Given the description of an element on the screen output the (x, y) to click on. 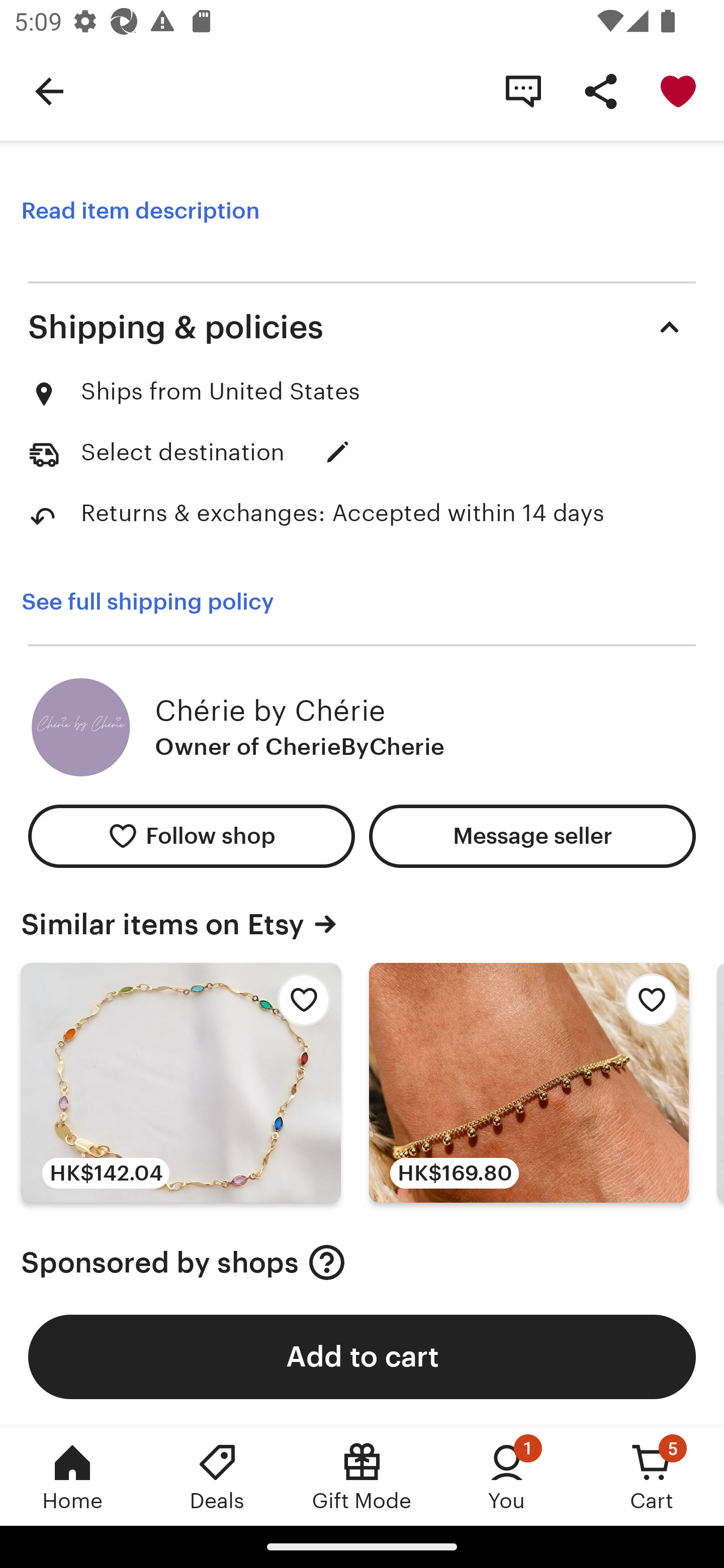
Navigate up (49, 90)
Contact shop (523, 90)
Share (600, 90)
Read item description (140, 211)
Shipping & policies (362, 326)
Update (337, 451)
See full shipping policy (161, 601)
Follow shop Follow CherieByCherie (191, 835)
Message seller (532, 835)
Similar items on Etsy  (362, 923)
Sponsored by shops Sponsored by shops About (362, 1262)
Add to cart (361, 1355)
Deals (216, 1475)
Gift Mode (361, 1475)
You, 1 new notification You (506, 1475)
Cart, 5 new notifications Cart (651, 1475)
